Given the description of an element on the screen output the (x, y) to click on. 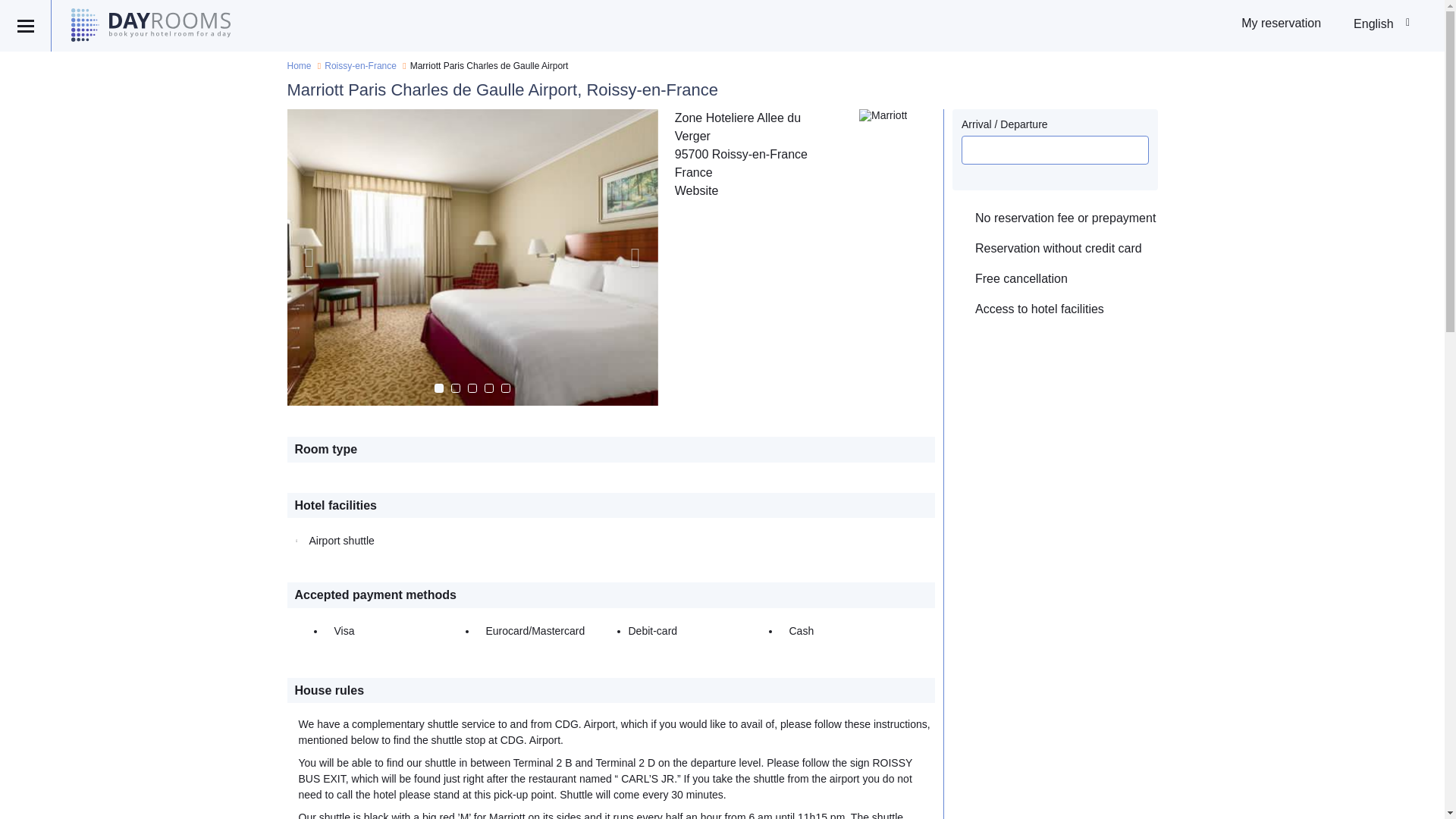
Roissy-en-France (360, 65)
Website (697, 190)
English (1383, 24)
My reservation (1281, 23)
Home (298, 65)
